Given the description of an element on the screen output the (x, y) to click on. 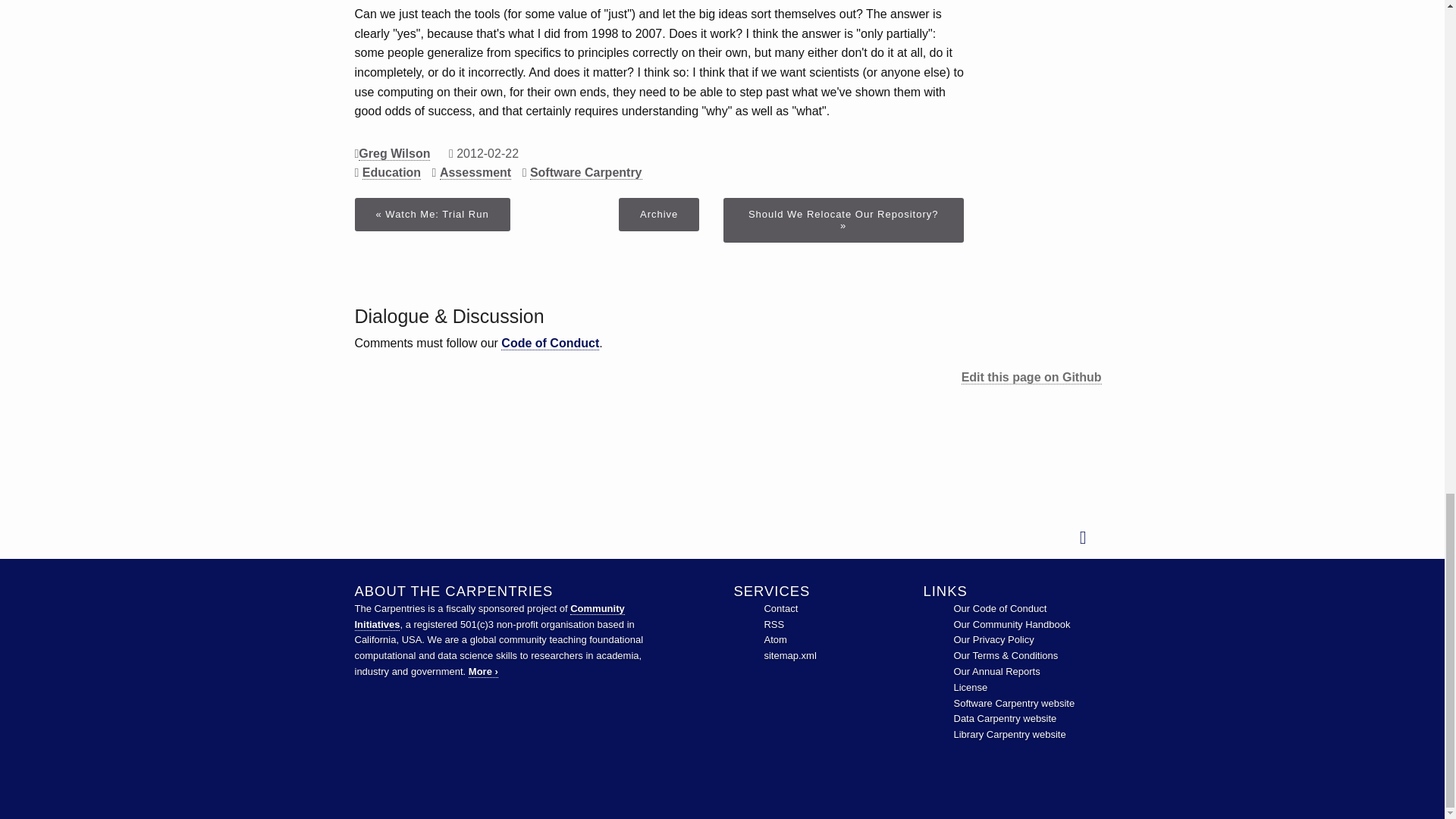
Blog Archive (658, 214)
Privacy Policy (993, 639)
Community Handbook (1011, 624)
Code of Conduct (999, 608)
Subscribe to RSS Feed (773, 624)
Library Carpentry (1009, 734)
Software Carpentry (1014, 703)
License (970, 686)
Contact (779, 608)
Data Carpentry (1005, 717)
